Given the description of an element on the screen output the (x, y) to click on. 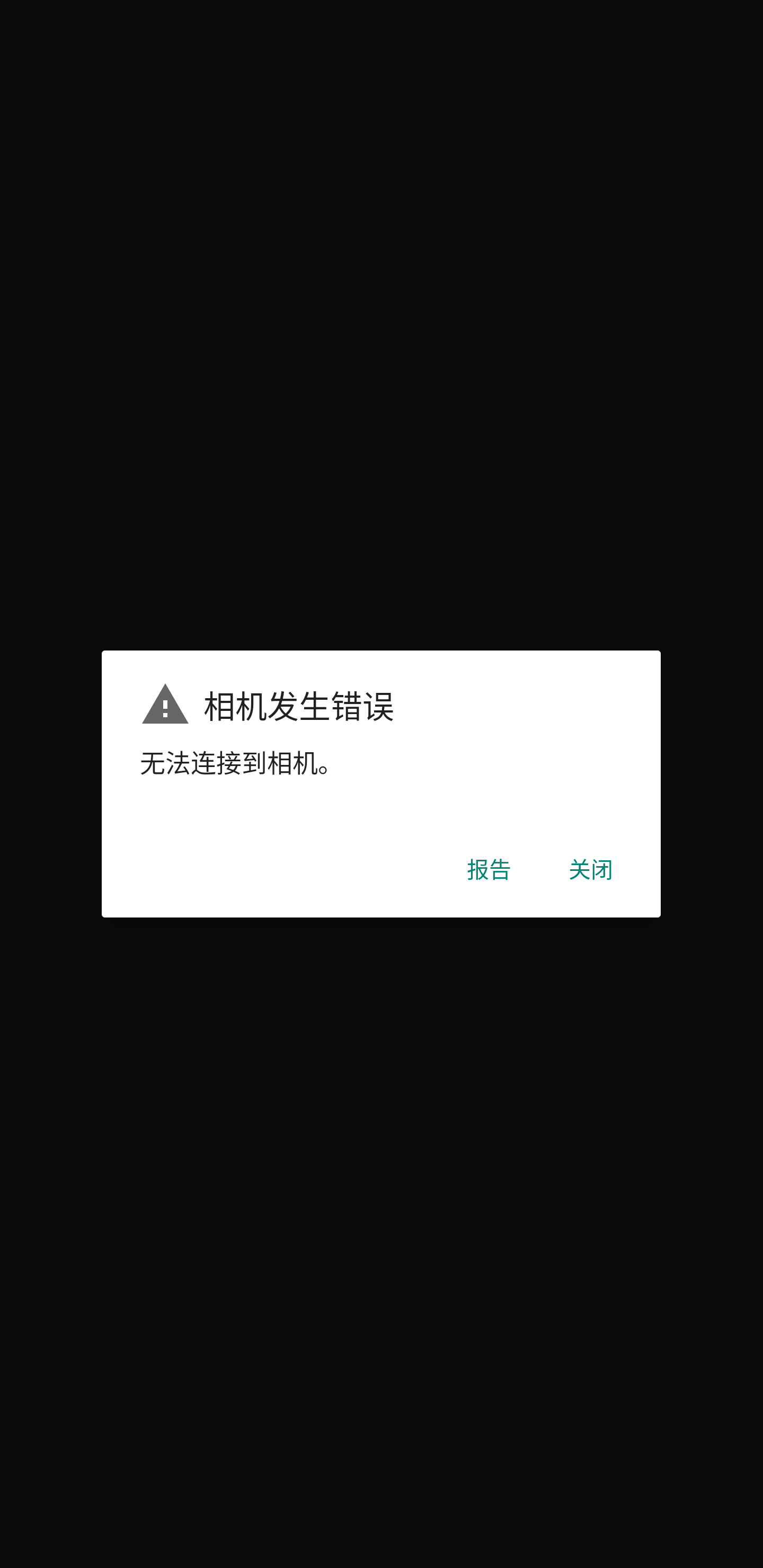
报告 (488, 867)
关闭 (590, 867)
